Given the description of an element on the screen output the (x, y) to click on. 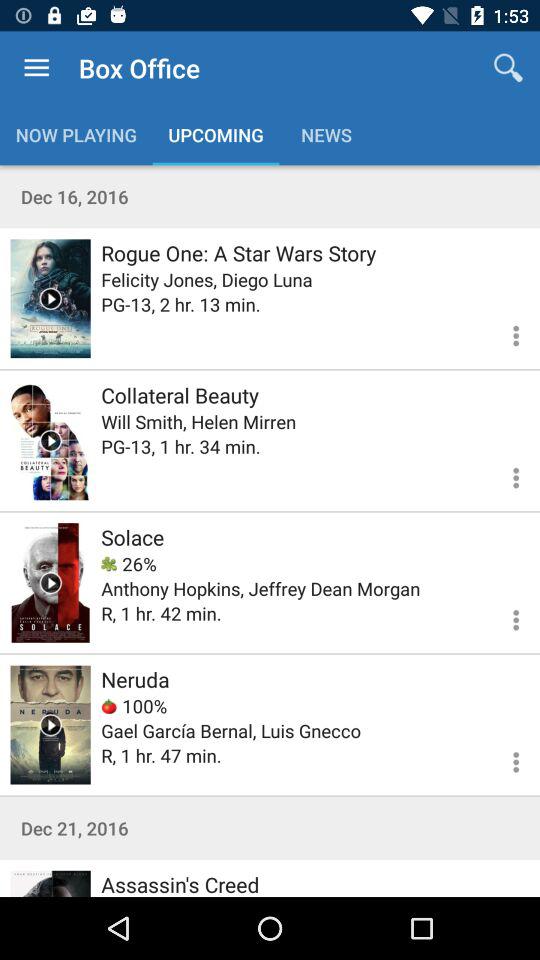
tap the felicity jones diego icon (206, 279)
